Given the description of an element on the screen output the (x, y) to click on. 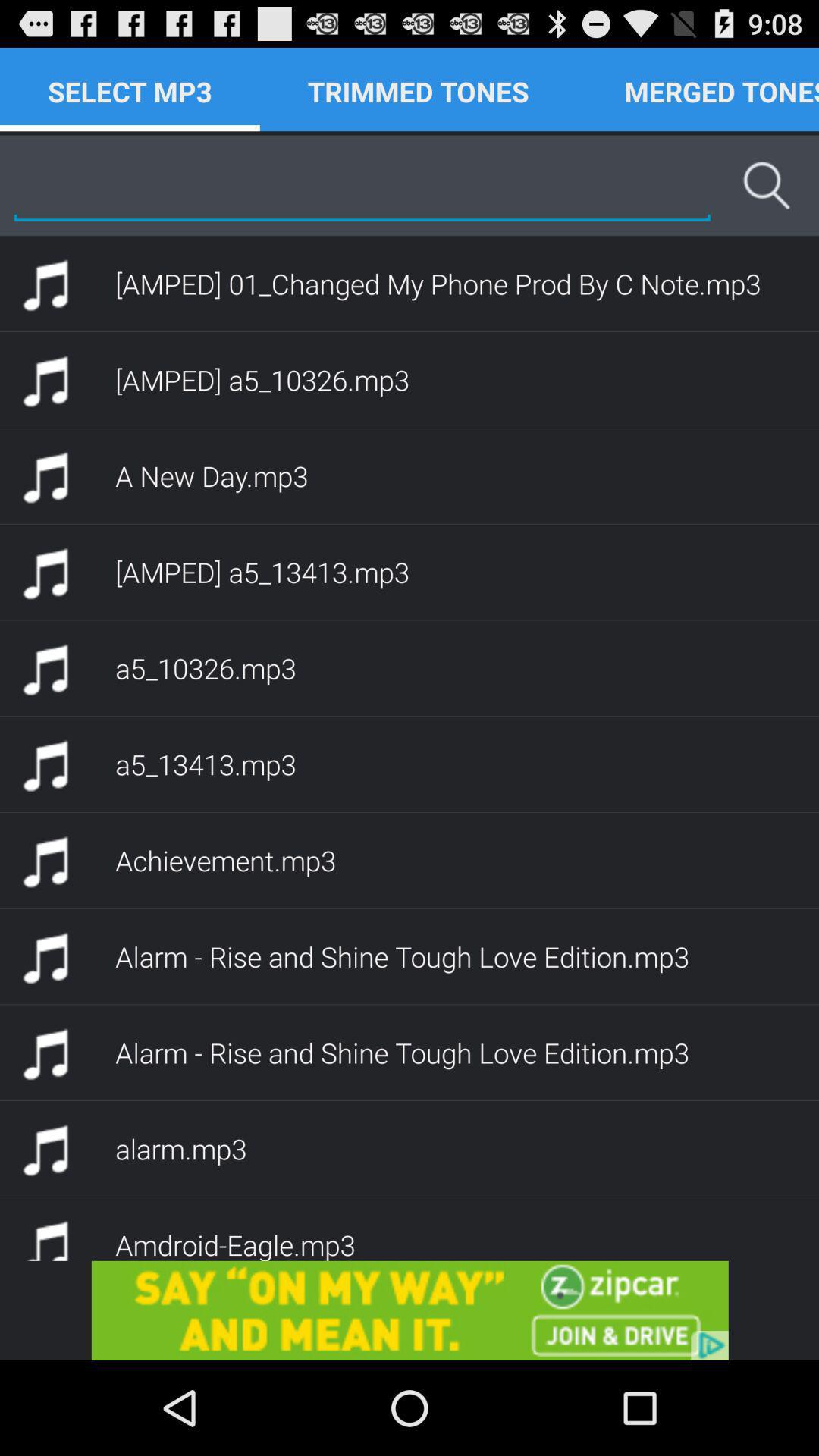
search mp3s (362, 185)
